Given the description of an element on the screen output the (x, y) to click on. 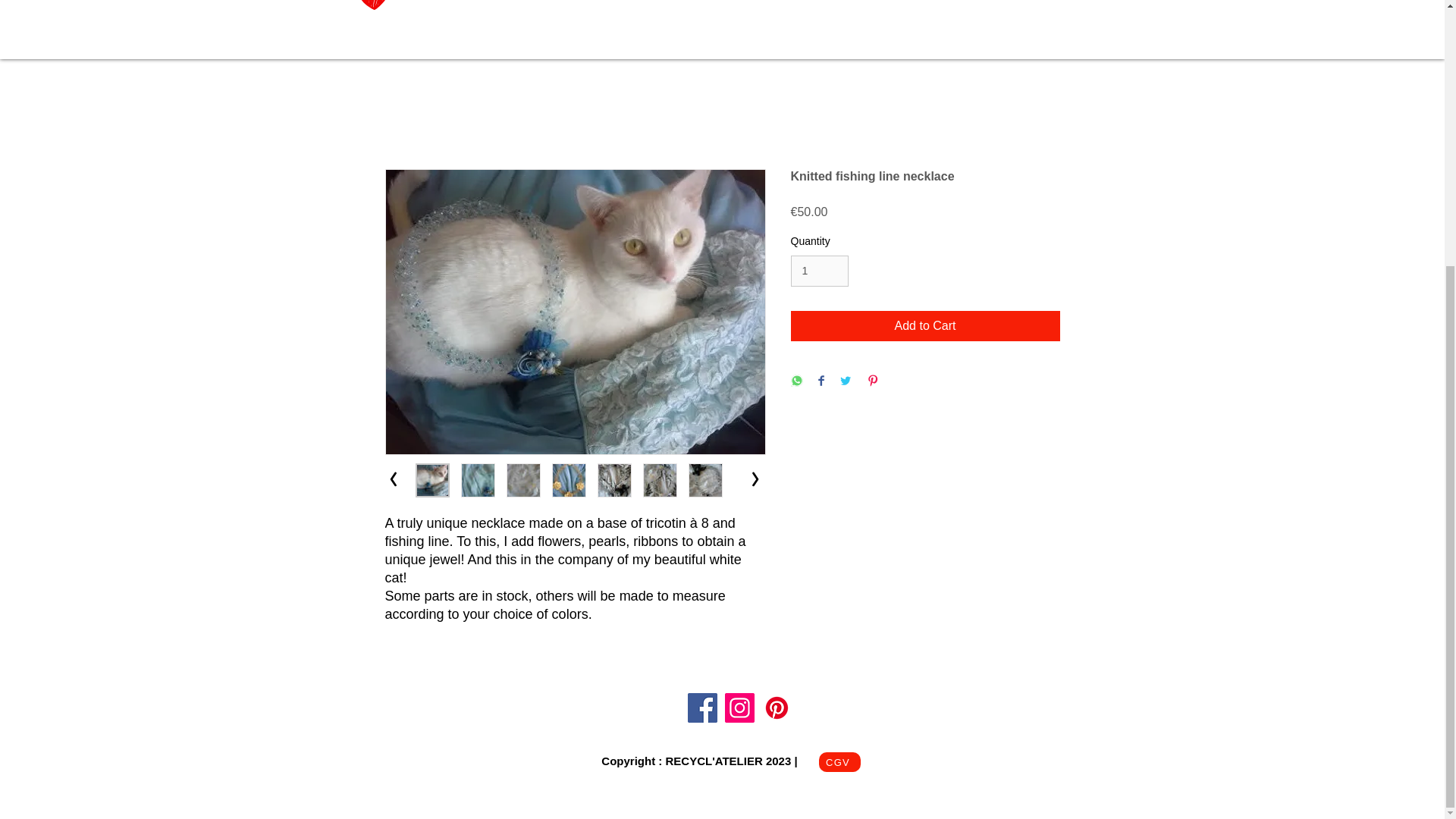
CGV (839, 762)
1 (818, 270)
Add to Cart (924, 326)
